Given the description of an element on the screen output the (x, y) to click on. 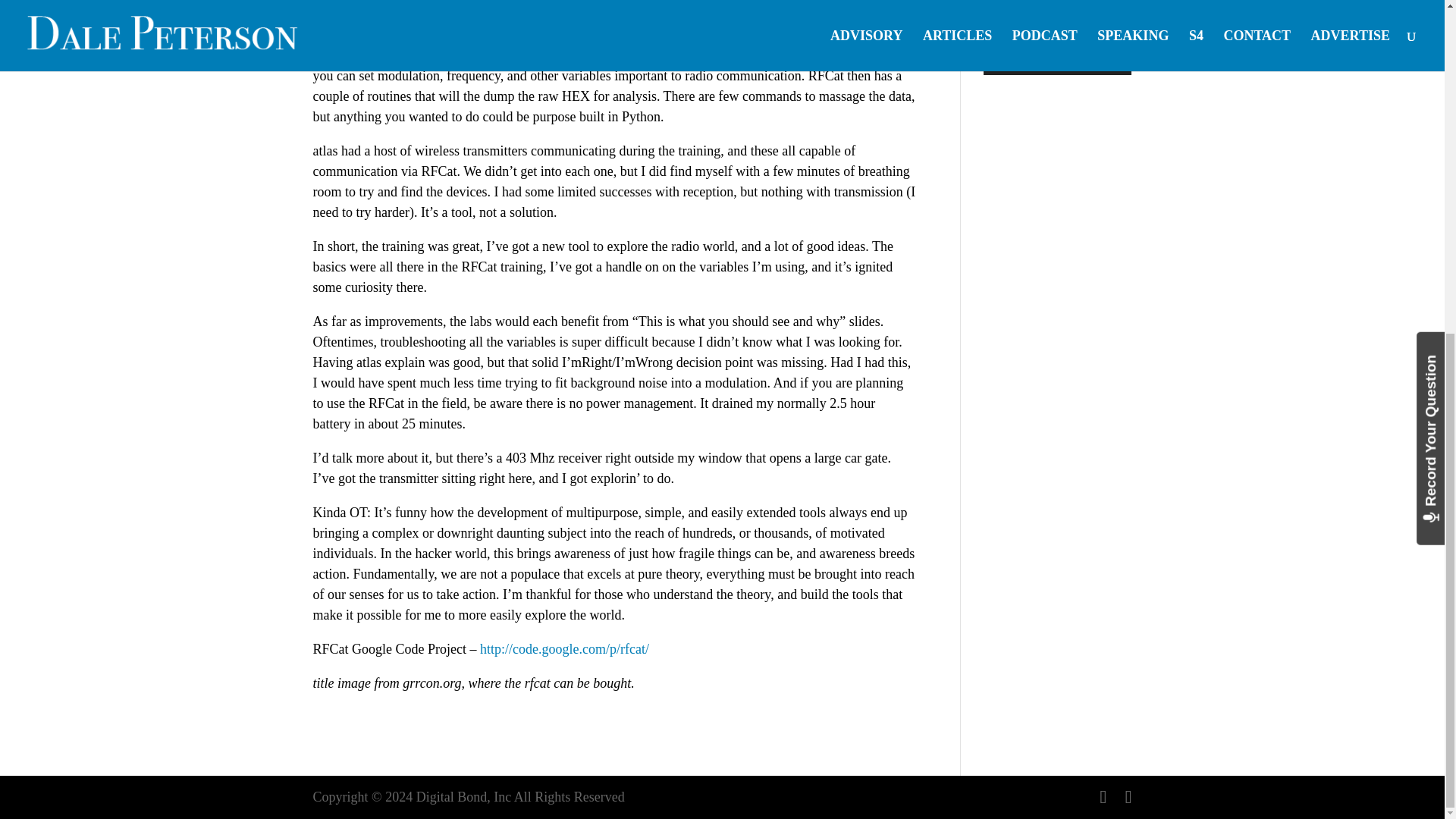
Play (1002, 59)
Mute (1101, 59)
Fullscreen (1117, 59)
